Given the description of an element on the screen output the (x, y) to click on. 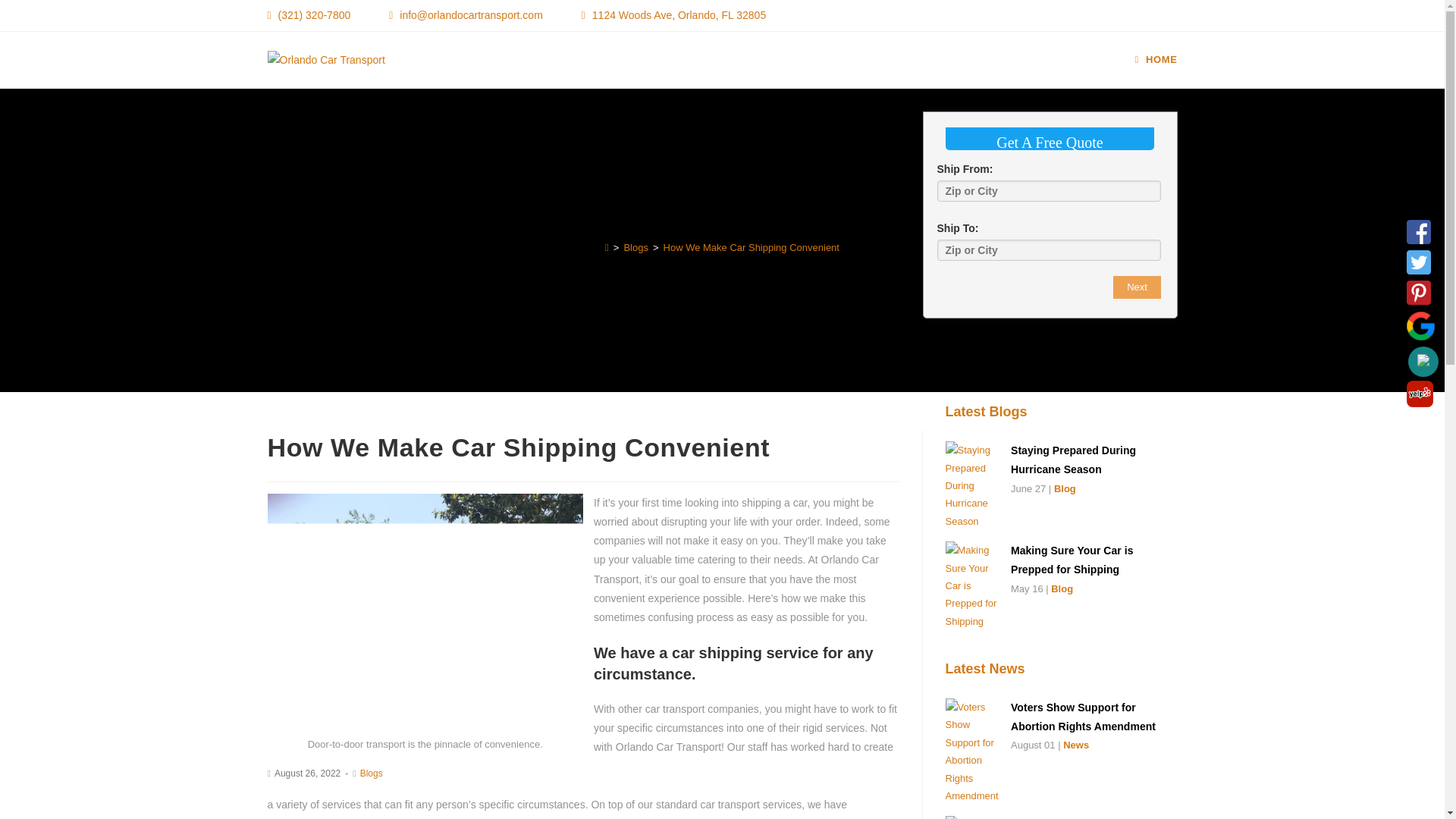
Next (1136, 287)
Latest News (984, 668)
Blog (1062, 588)
HOME (1156, 59)
Enter a location (1048, 250)
Blog (1064, 488)
Enter a location (1048, 190)
commercial businesses (435, 818)
Blogs (370, 773)
News (1075, 745)
